Given the description of an element on the screen output the (x, y) to click on. 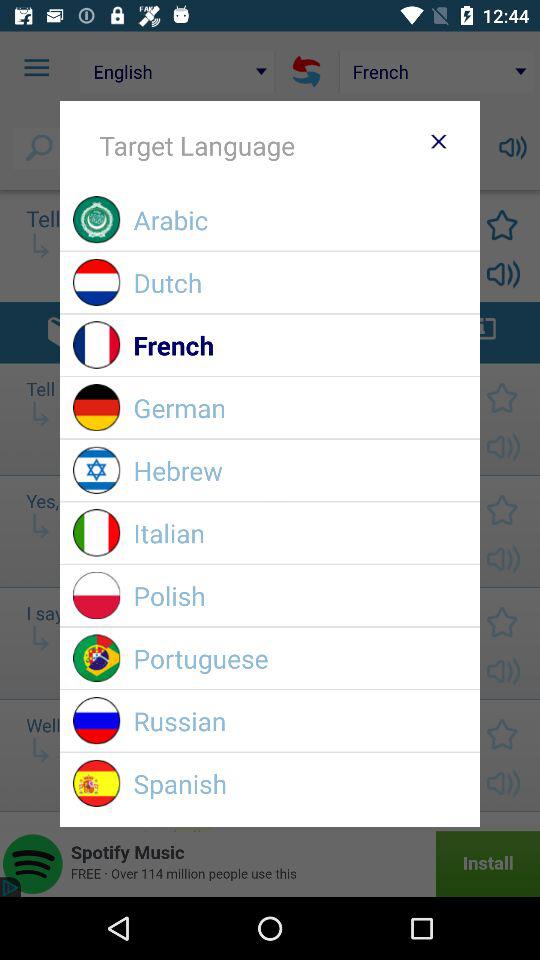
select item above the russian (300, 657)
